Given the description of an element on the screen output the (x, y) to click on. 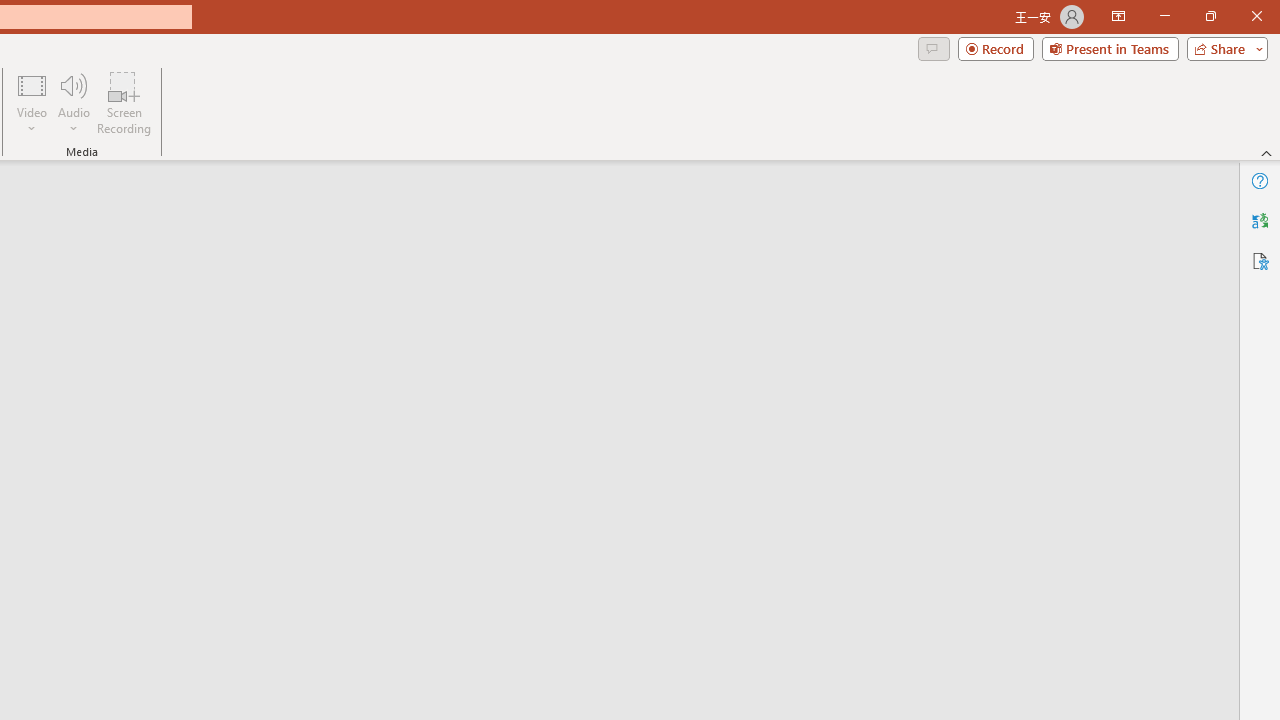
Microsoft Rewards (373, 216)
Copilot (Ctrl+Shift+.) (1241, 82)
Microsoft Cashback (415, 216)
Class: ___1lmltc5 f1agt3bx f12qytpq (411, 217)
